Given the description of an element on the screen output the (x, y) to click on. 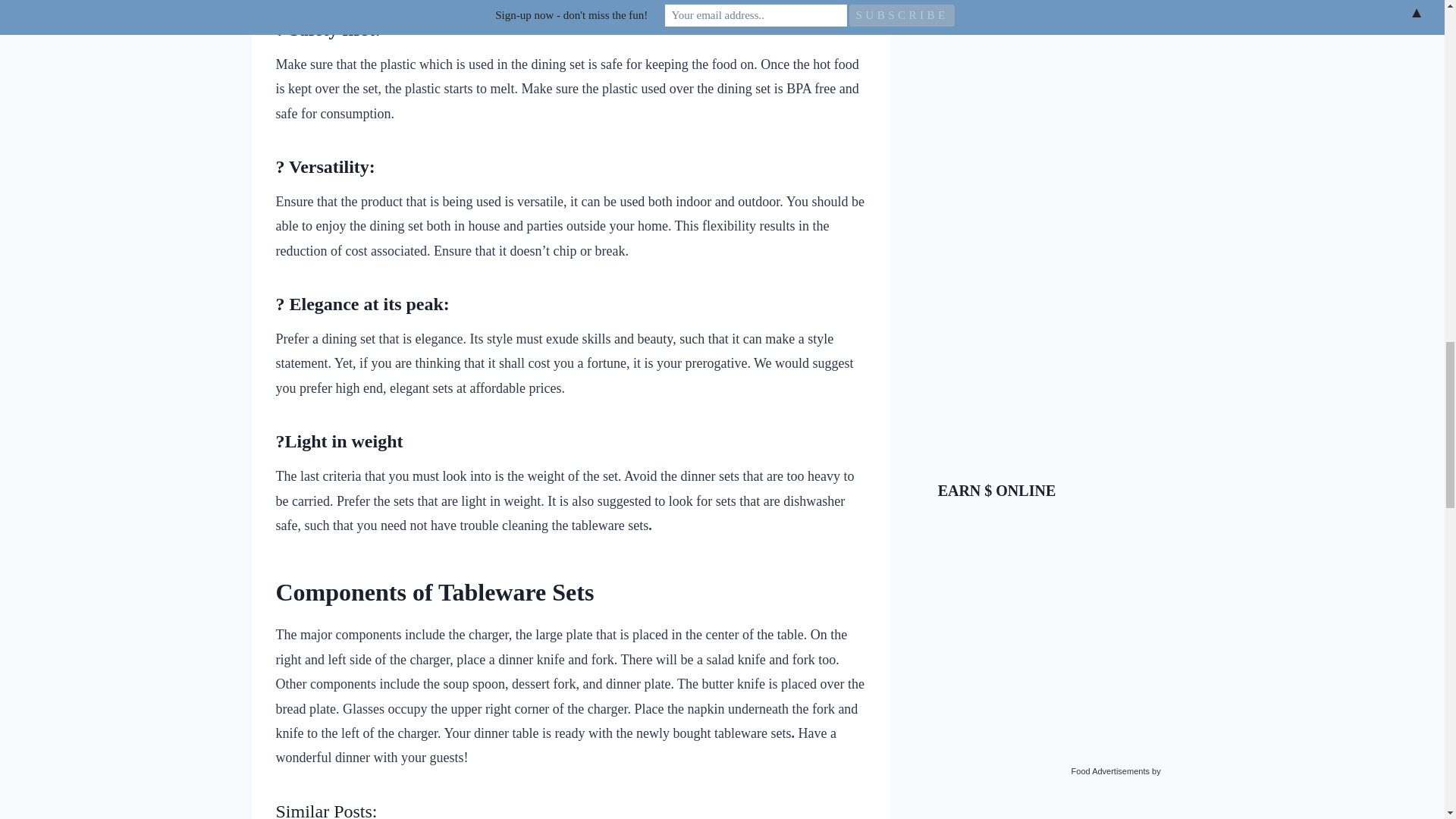
Food Advertisements (1110, 770)
